Given the description of an element on the screen output the (x, y) to click on. 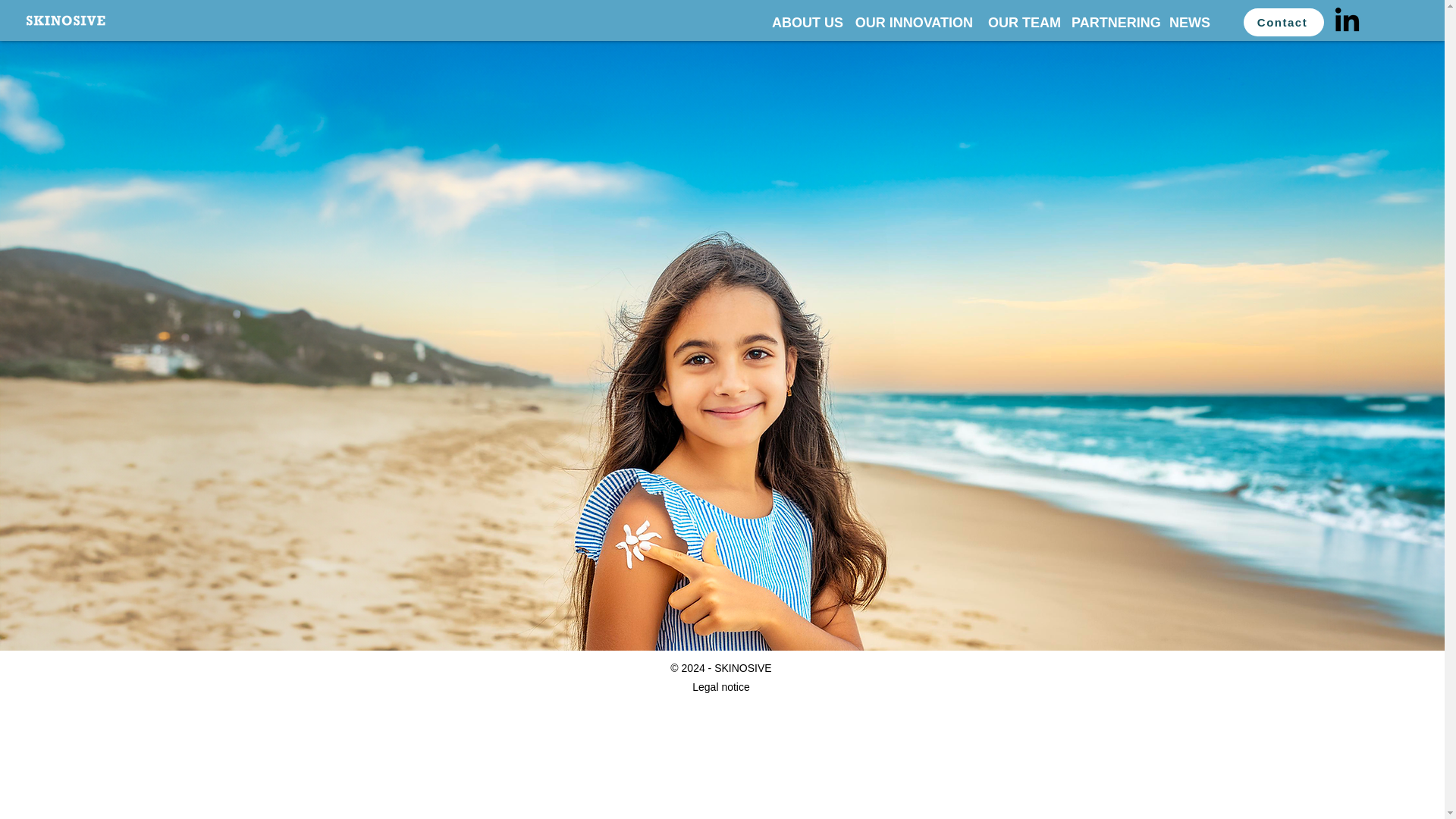
OUR TEAM (1021, 22)
ABOUT US (804, 22)
Contact (1283, 22)
NEWS (1188, 22)
PARTNERING (1112, 22)
OUR INNOVATION (912, 22)
